Given the description of an element on the screen output the (x, y) to click on. 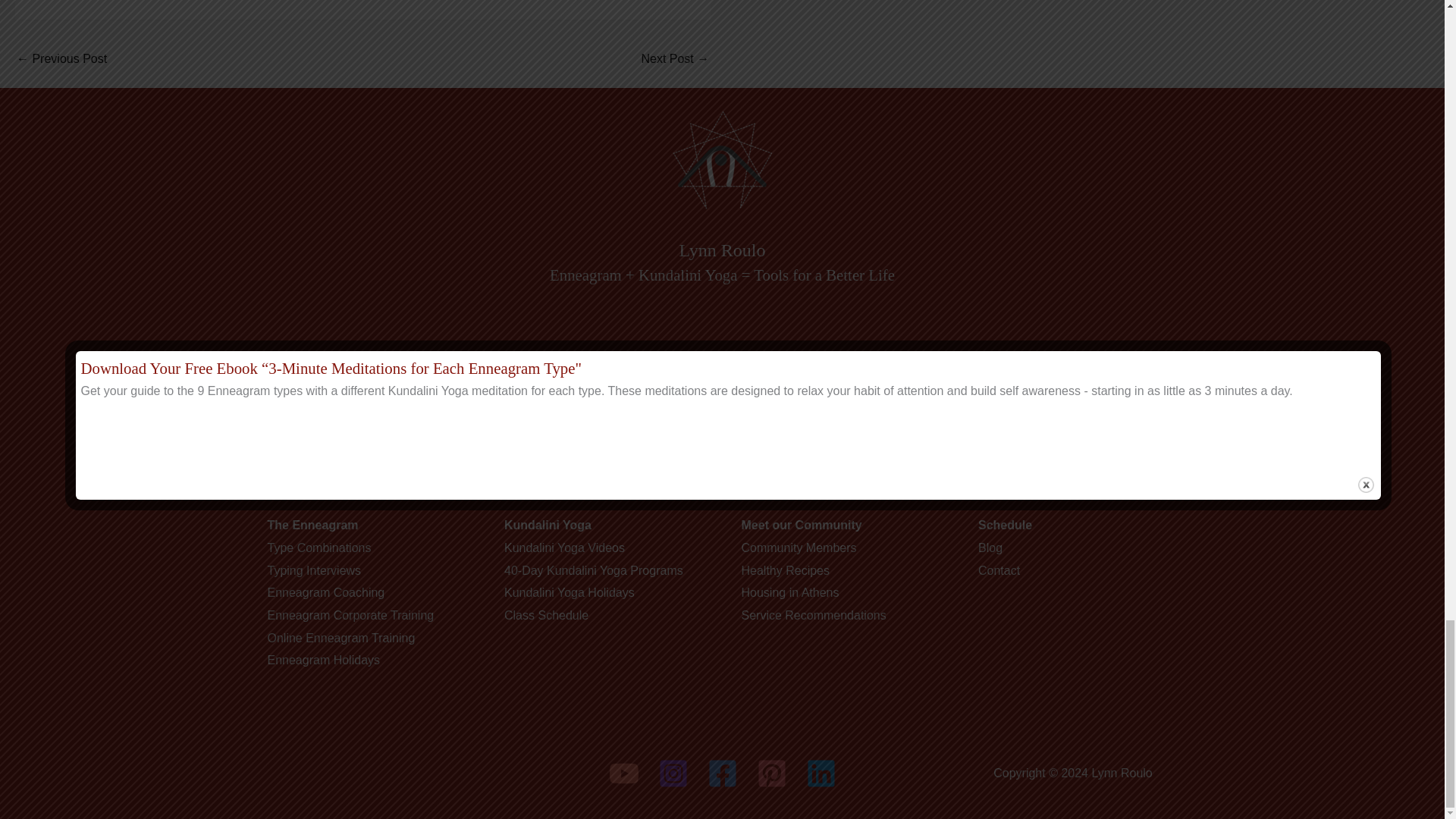
What I Learned From the Project 333 Fashion Challenge (674, 59)
How to Lose Weight in Four Steps (61, 59)
